Given the description of an element on the screen output the (x, y) to click on. 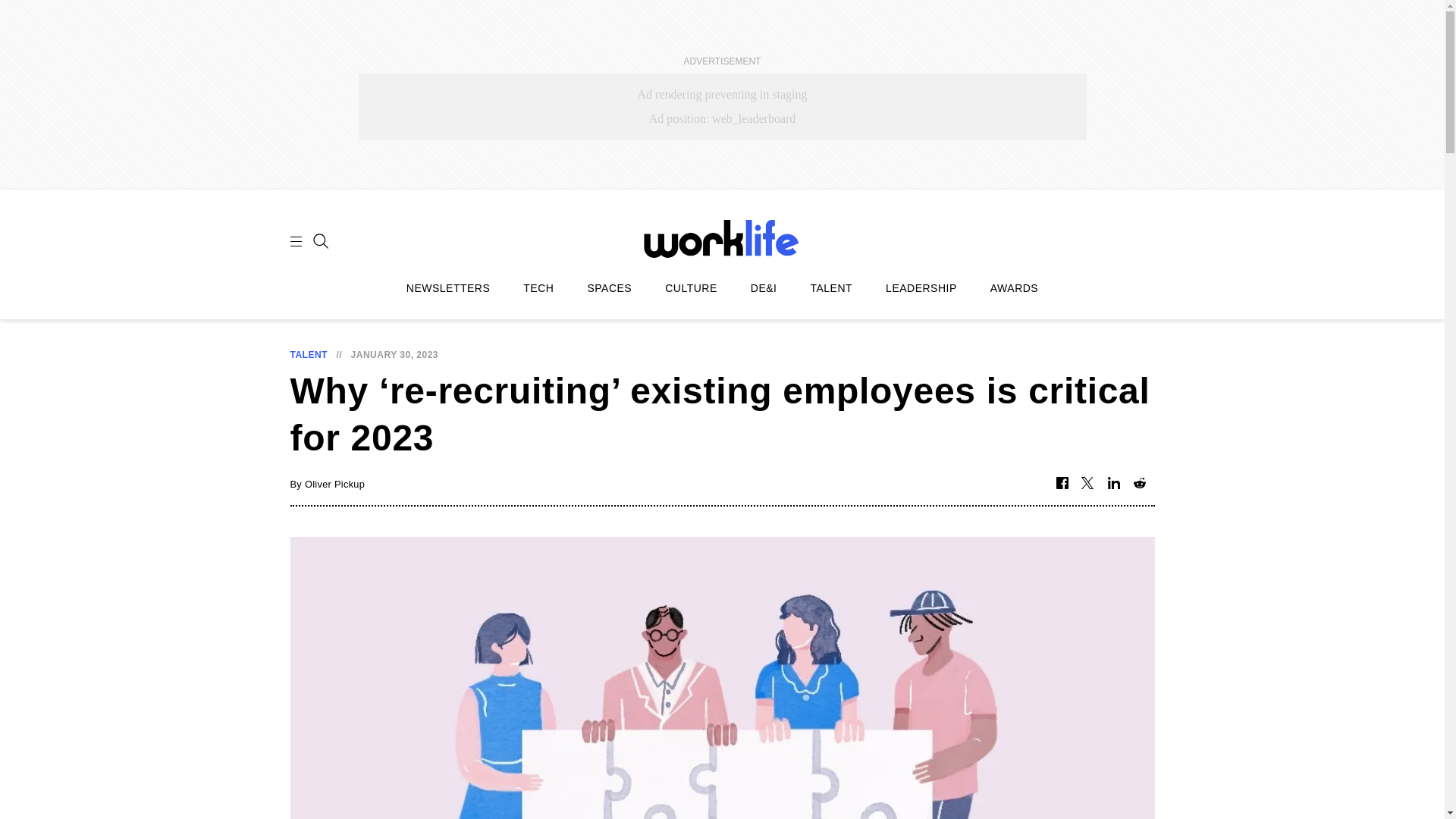
Share on Reddit (1139, 483)
NEWSLETTERS (448, 288)
Share on Facebook (1061, 483)
Twitter (1087, 483)
SPACES (608, 288)
TALENT (307, 354)
Share on Twitter (1087, 483)
Facebook (1061, 483)
TALENT (830, 288)
CULTURE (691, 288)
